Given the description of an element on the screen output the (x, y) to click on. 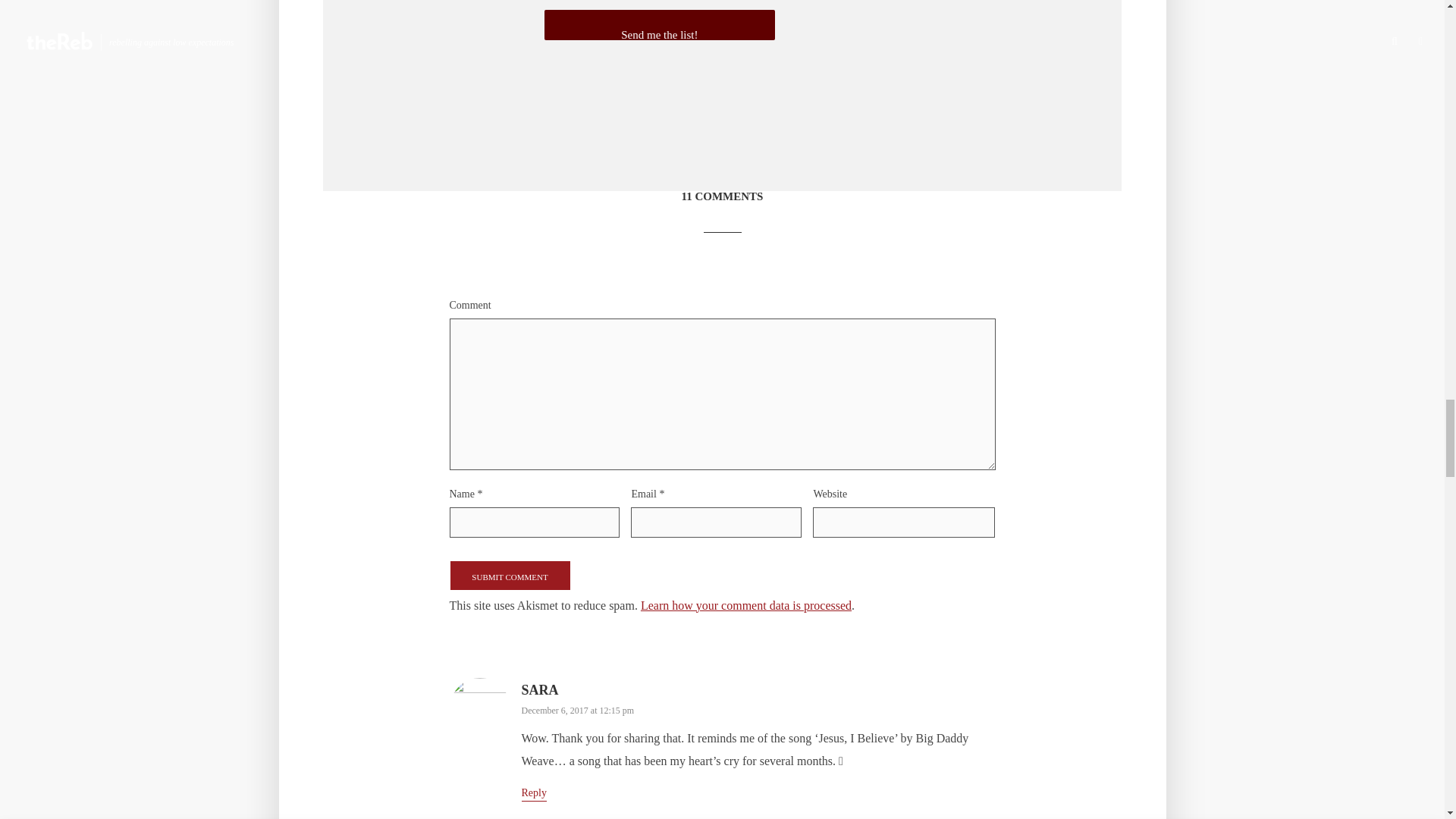
Submit Comment (509, 574)
Send me the list! (659, 24)
SARA (540, 689)
Submit Comment (509, 574)
Learn how your comment data is processed (745, 604)
